Given the description of an element on the screen output the (x, y) to click on. 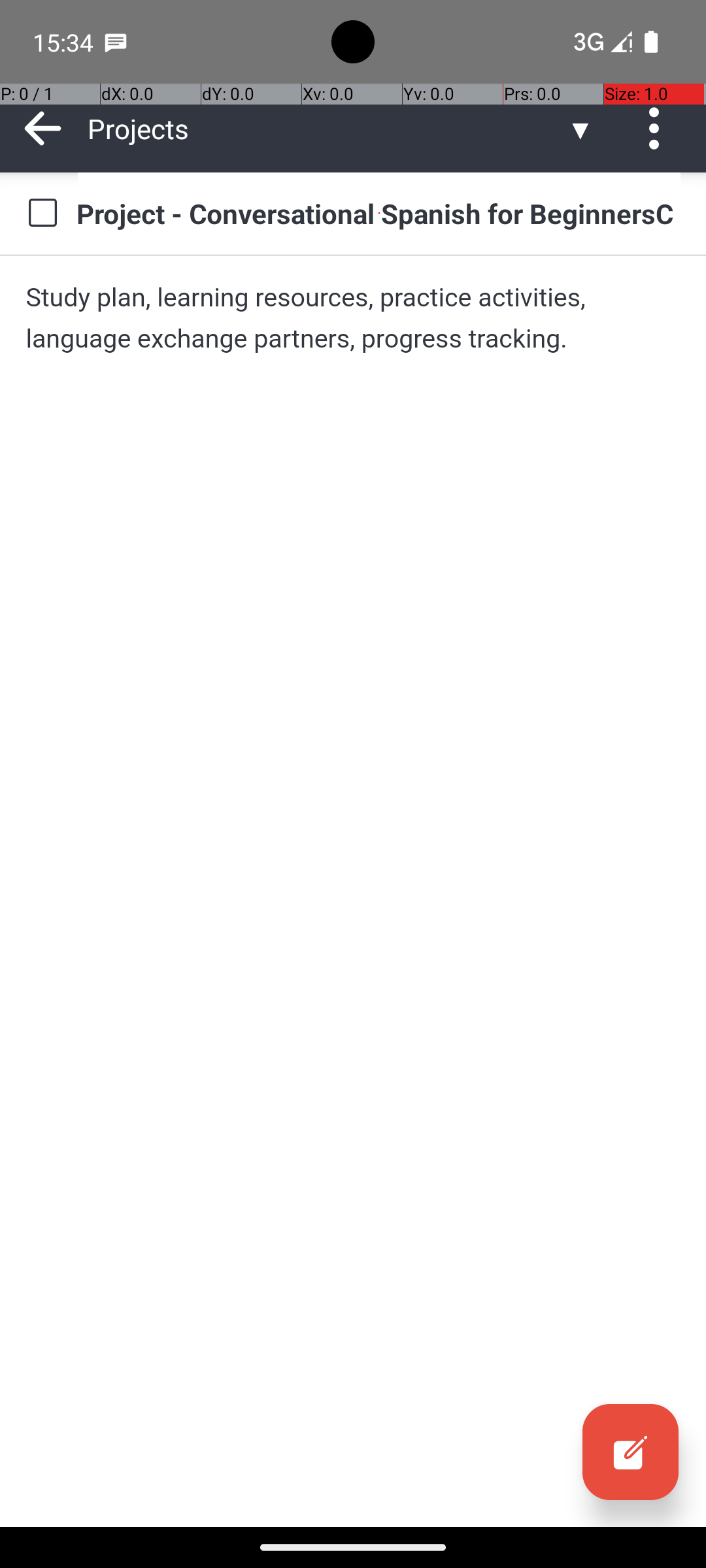
Language Learning Project - Conversational Spanish for BeginnersConversational Spanish Element type: android.widget.EditText (378, 213)
Projects Element type: android.widget.TextView (326, 128)
Study plan, learning resources, practice activities, language exchange partners, progress tracking. Element type: android.widget.TextView (352, 317)
